Given the description of an element on the screen output the (x, y) to click on. 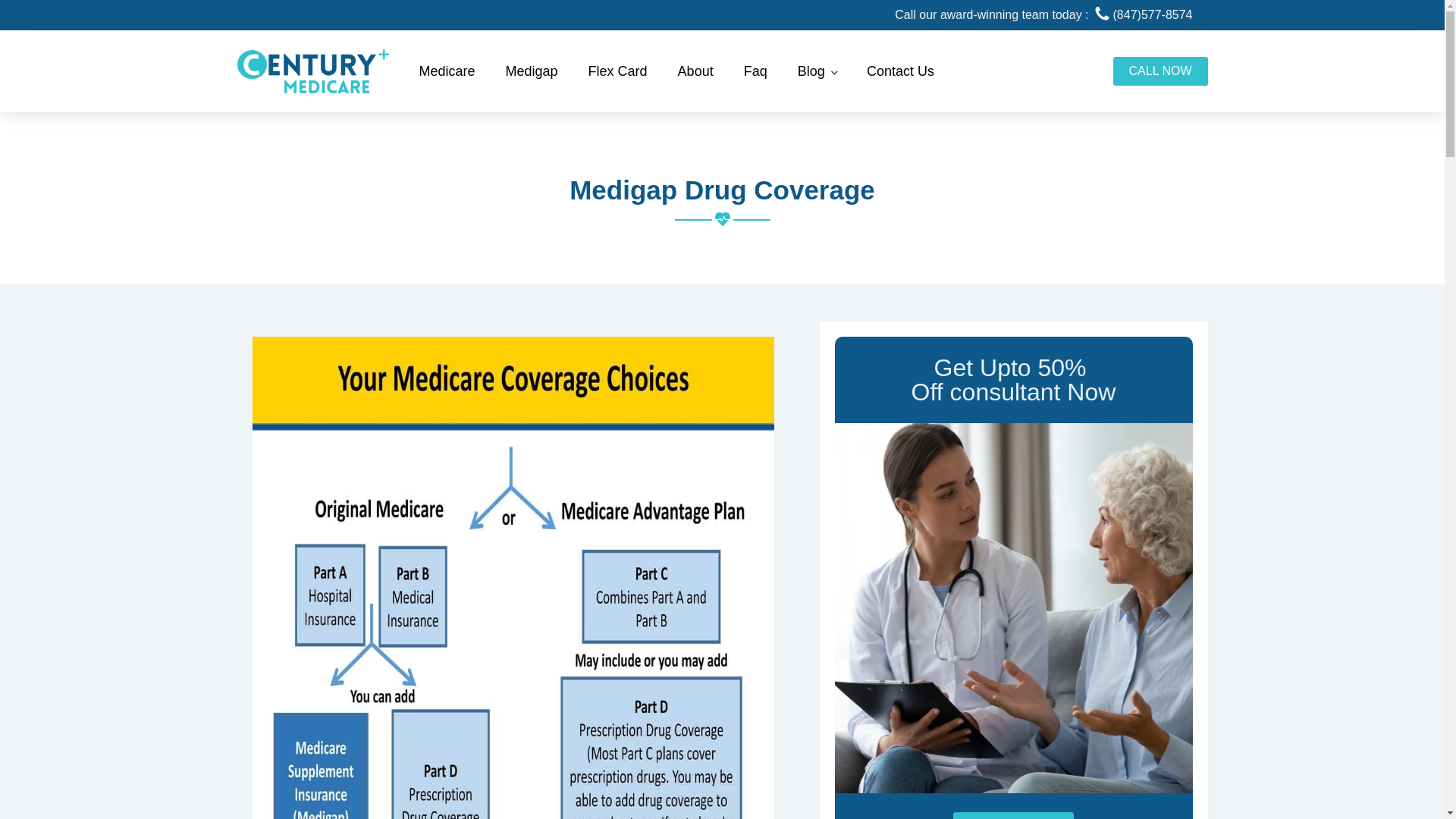
Blog (817, 71)
Check Avaliability (1013, 815)
About (695, 71)
Faq (756, 71)
CALL NOW (1160, 70)
Century Medicare (311, 71)
Contact Us (900, 71)
Medicare (446, 71)
Flex Card (617, 71)
Medigap (531, 71)
